Given the description of an element on the screen output the (x, y) to click on. 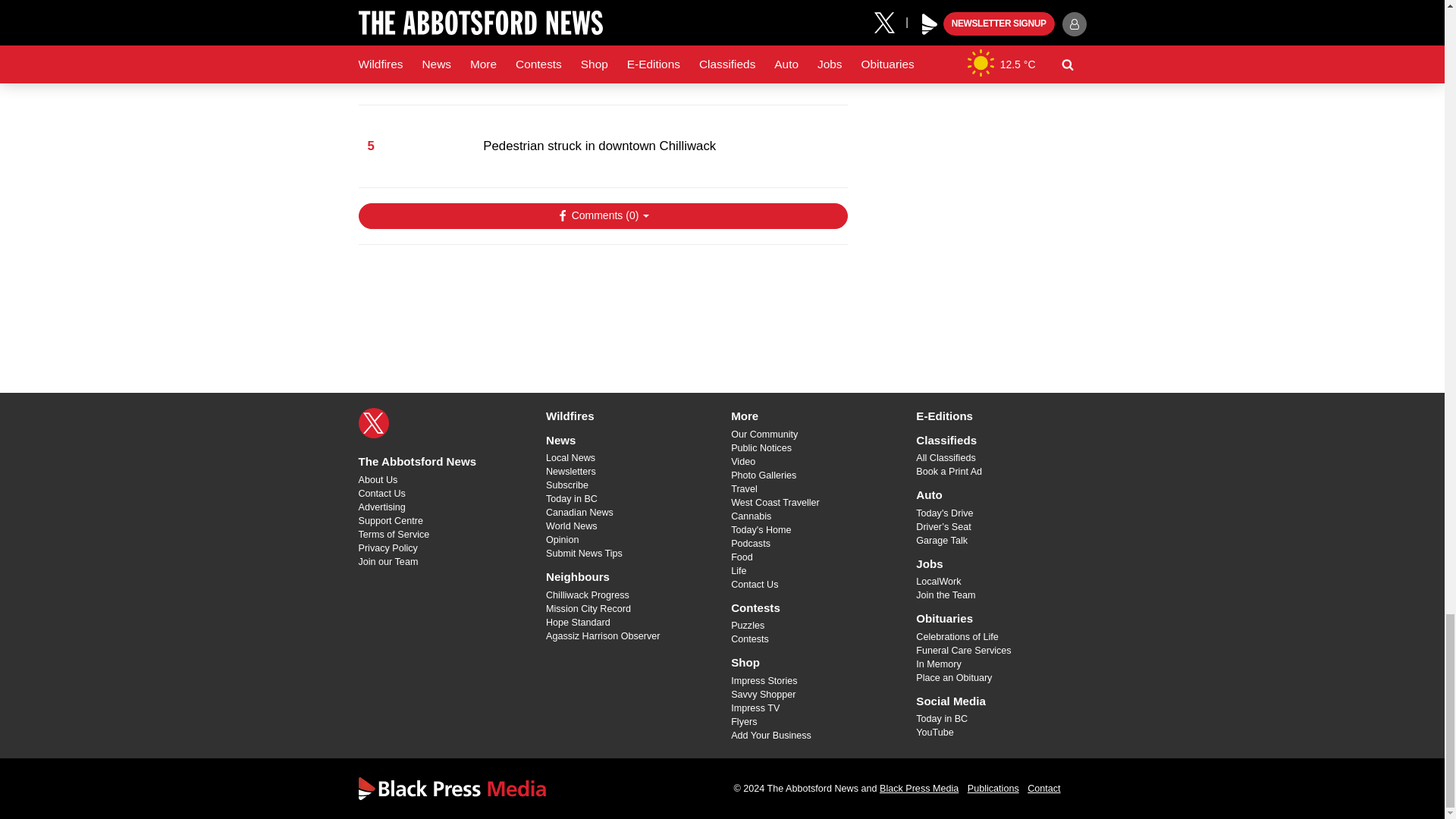
X (373, 422)
Show Comments (602, 216)
